Given the description of an element on the screen output the (x, y) to click on. 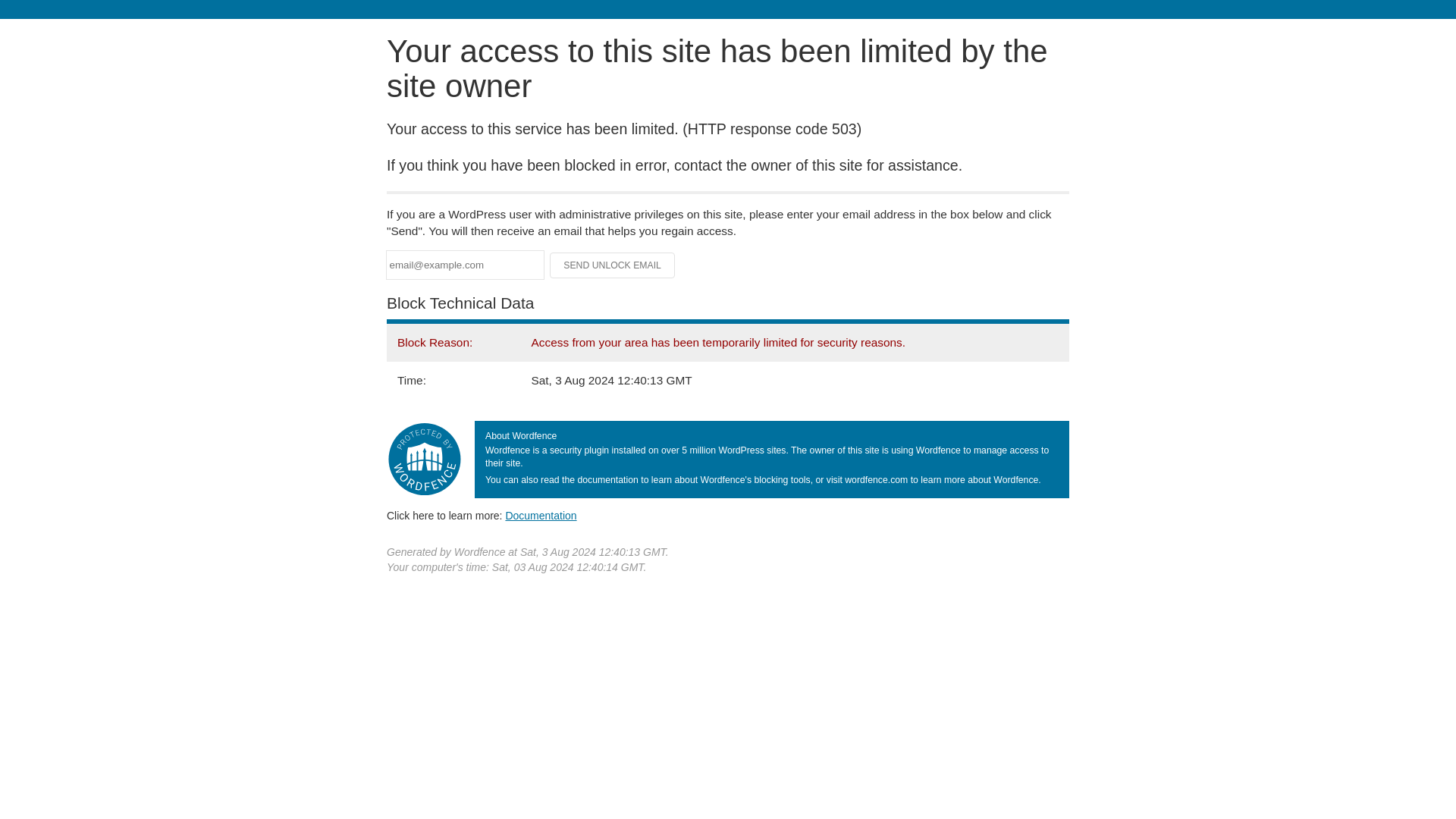
Documentation (540, 515)
Send Unlock Email (612, 265)
Send Unlock Email (612, 265)
